Given the description of an element on the screen output the (x, y) to click on. 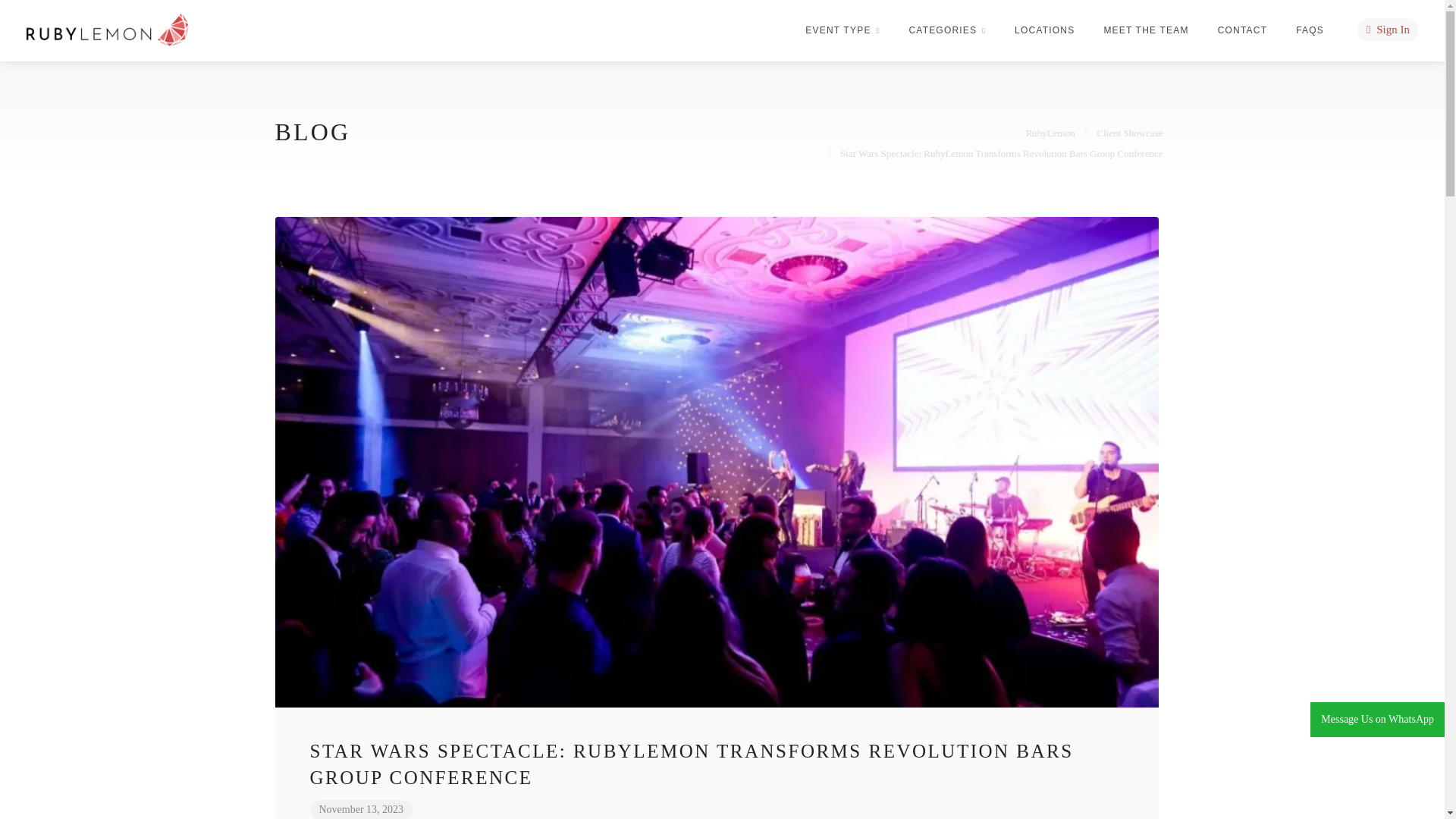
RubyLemon (107, 30)
Sign In (1387, 29)
Go to RubyLemon. (1051, 131)
MEET THE TEAM (1144, 30)
EVENT TYPE (842, 30)
LOCATIONS (1044, 30)
FAQS (1313, 30)
CATEGORIES (946, 30)
CONTACT (1242, 30)
Go to the Client Showcase Category archives. (1130, 131)
